Given the description of an element on the screen output the (x, y) to click on. 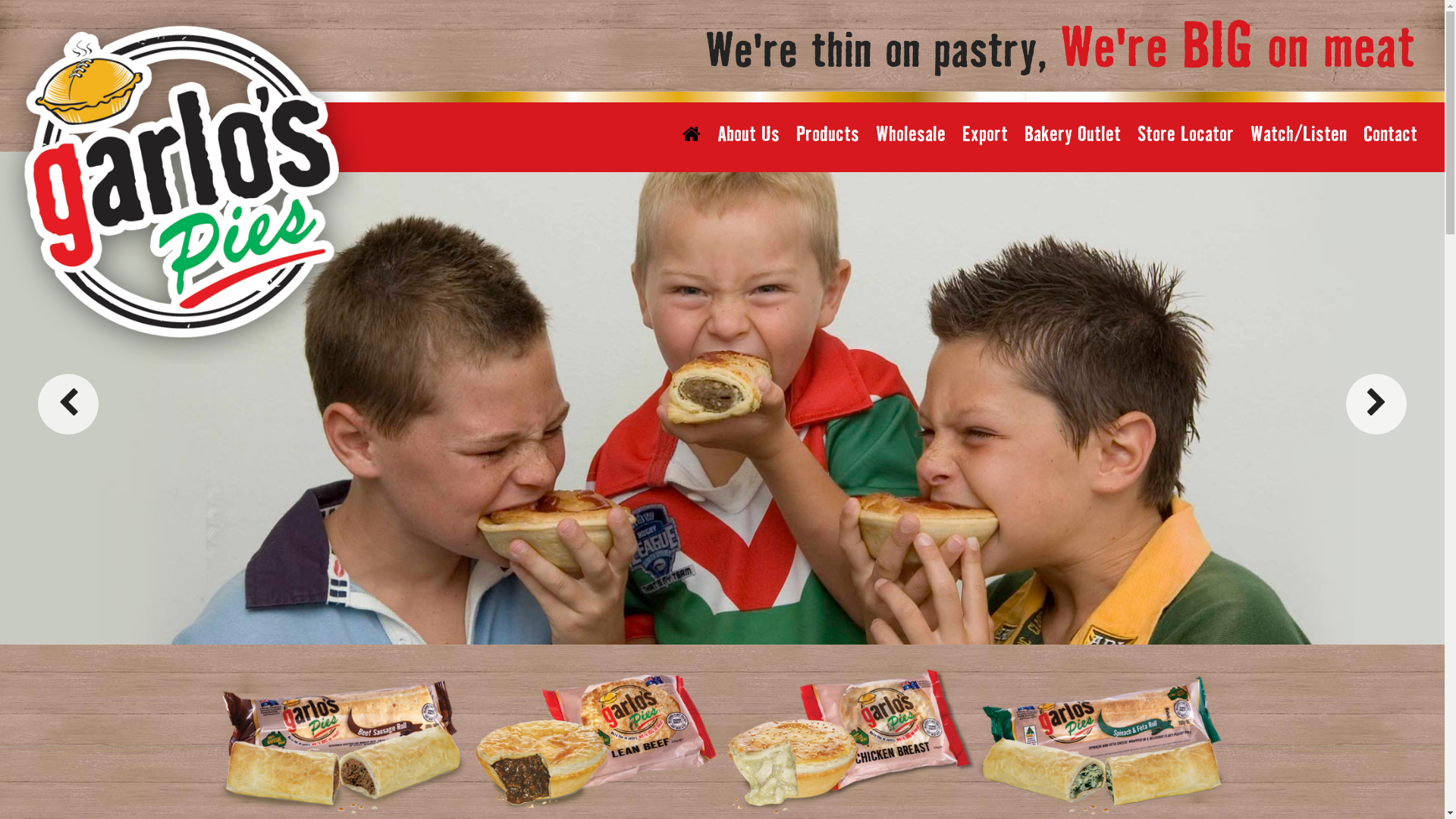
Watch/Listen Element type: text (1298, 135)
Contact Element type: text (1390, 135)
Products Element type: text (827, 135)
Store Locator Element type: text (1185, 135)
VIEW STORES Element type: text (692, 605)
Wholesale Element type: text (910, 135)
About Us Element type: text (748, 135)
Export Element type: text (984, 135)
Bakery Outlet Element type: text (1072, 135)
